Given the description of an element on the screen output the (x, y) to click on. 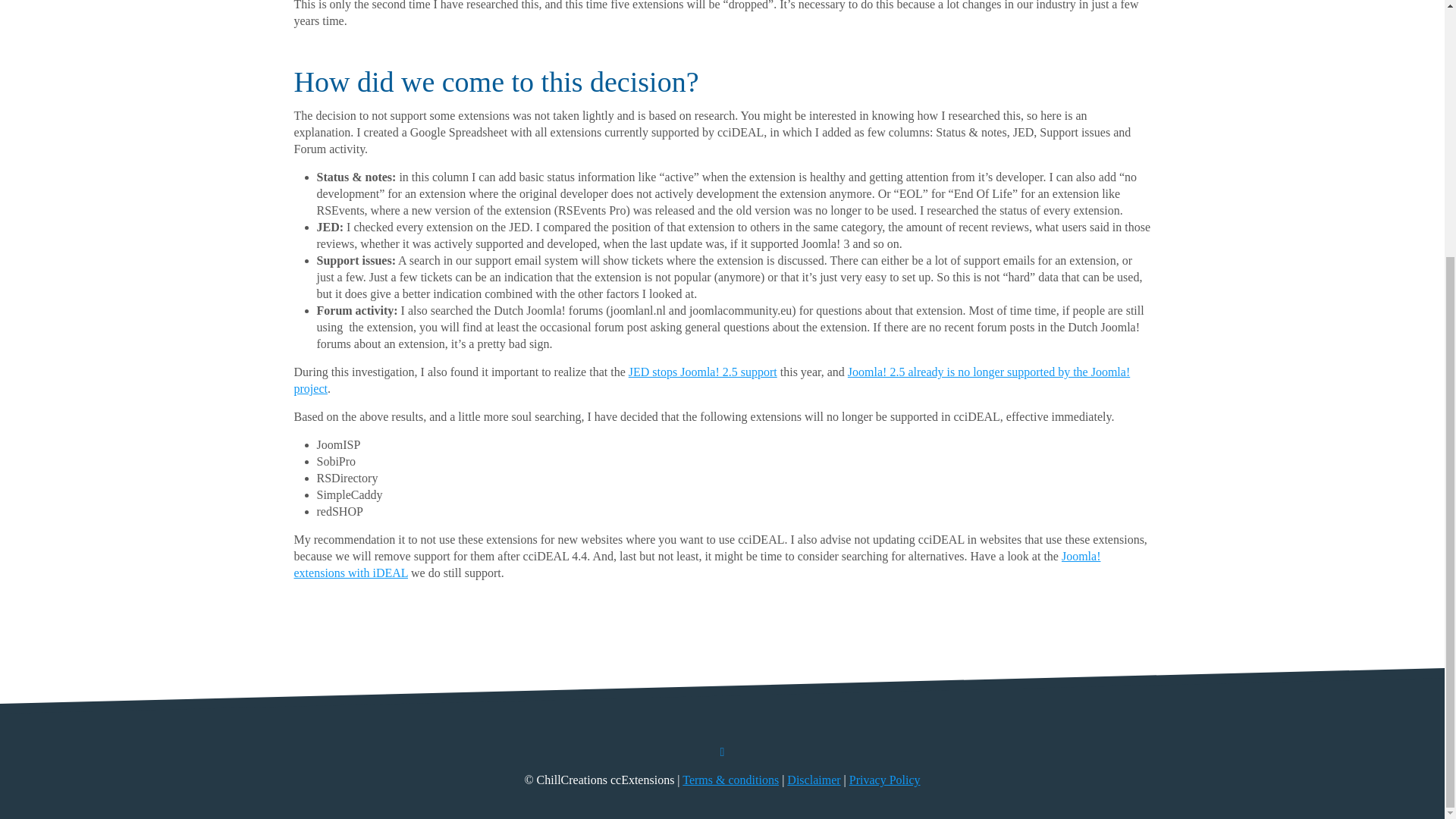
Joomla! extensions with iDEAL (697, 564)
JED stops Joomla! 2.5 support (702, 371)
Disclaimer (813, 779)
Privacy Policy (884, 779)
